Given the description of an element on the screen output the (x, y) to click on. 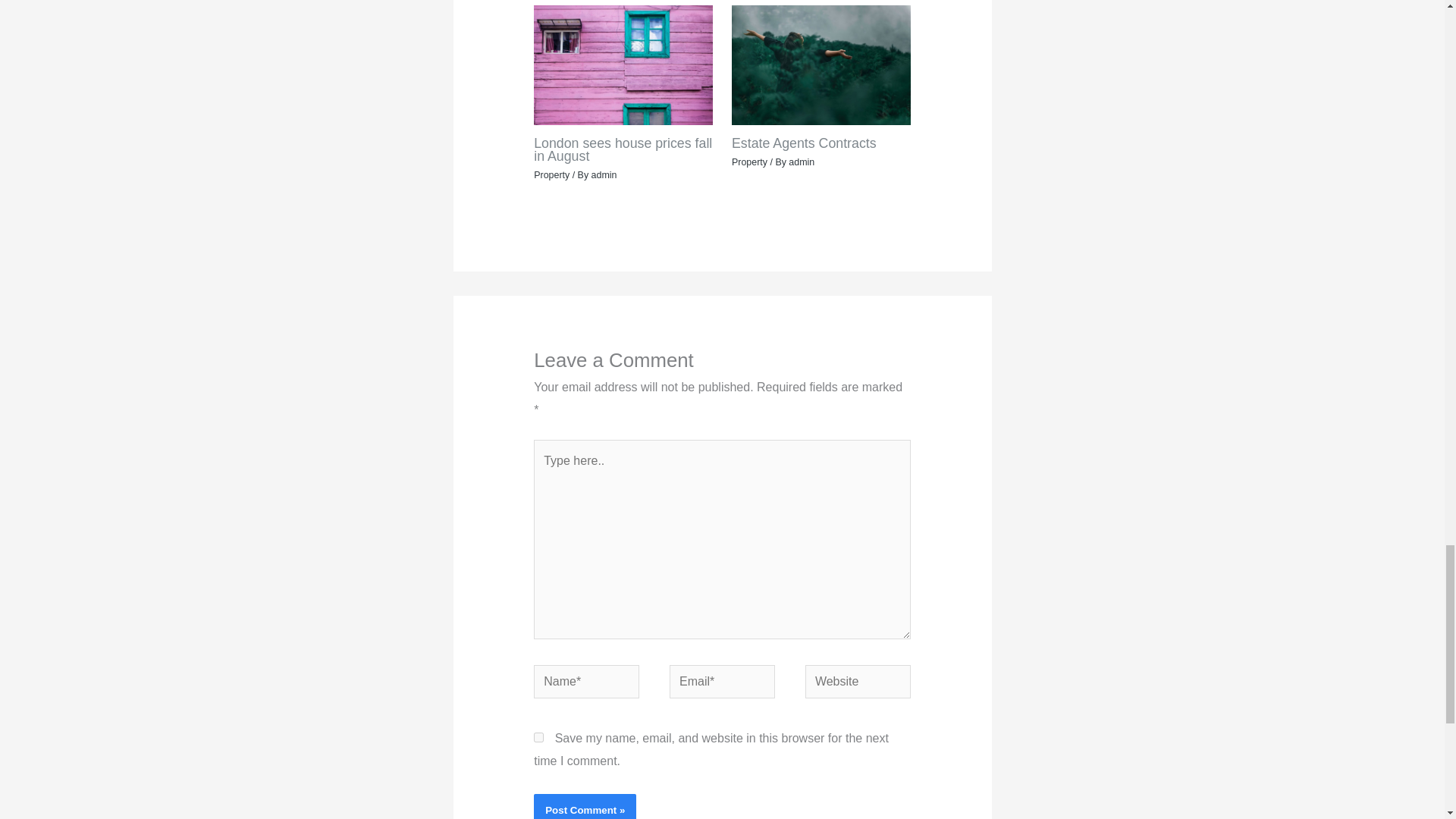
View all posts by admin (801, 162)
admin (604, 174)
Property (551, 174)
yes (538, 737)
Property (749, 162)
admin (801, 162)
London sees house prices fall in August (622, 149)
Estate Agents Contracts (804, 142)
View all posts by admin (604, 174)
